Given the description of an element on the screen output the (x, y) to click on. 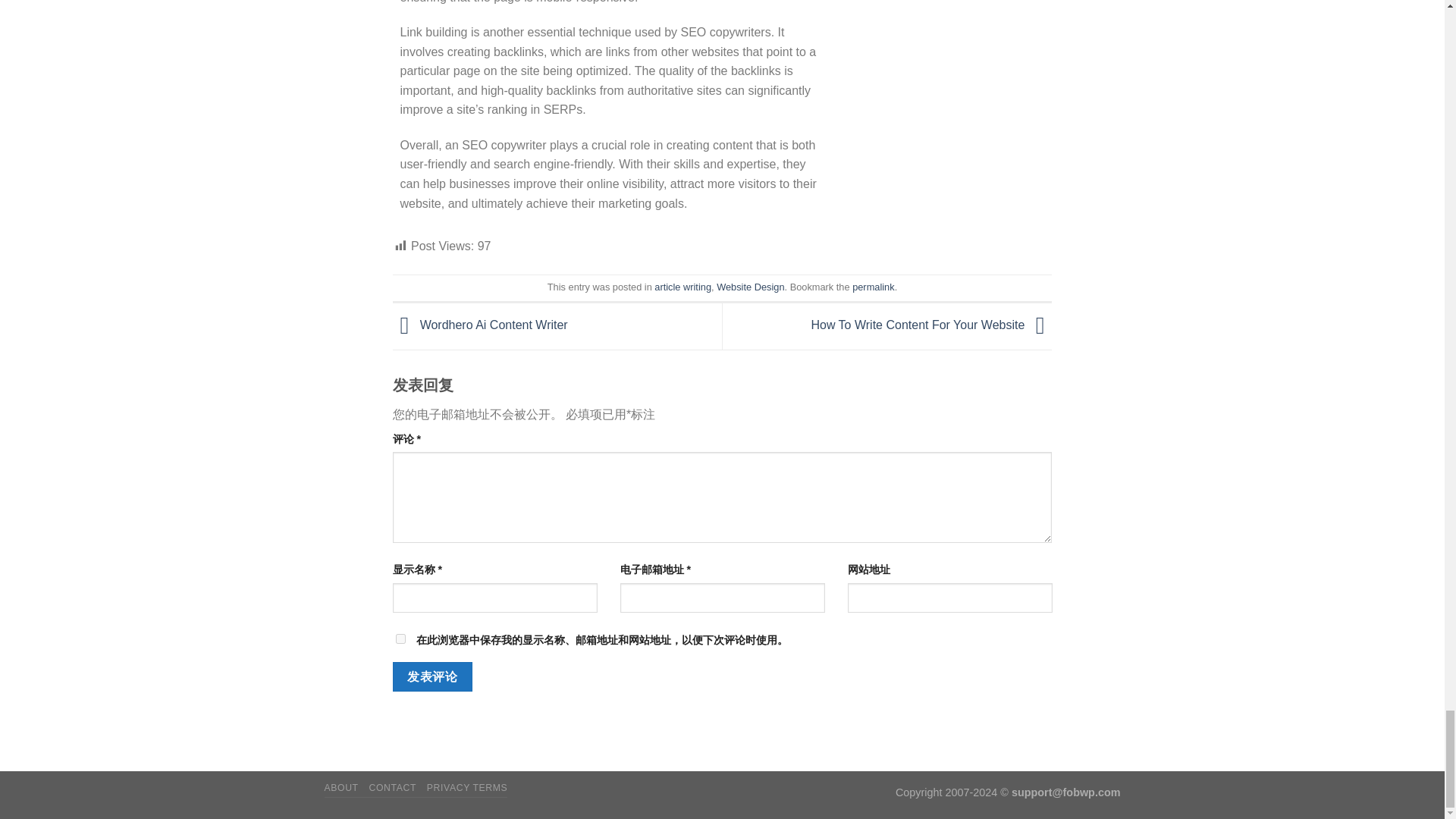
Website Design (750, 286)
CONTACT (392, 787)
permalink (872, 286)
PRIVACY TERMS (467, 787)
ABOUT (341, 787)
article writing (682, 286)
Wordhero Ai Content Writer (480, 325)
How To Write Content For Your Website (930, 325)
Permalink to Seo Copy Writer (872, 286)
yes (401, 638)
